Given the description of an element on the screen output the (x, y) to click on. 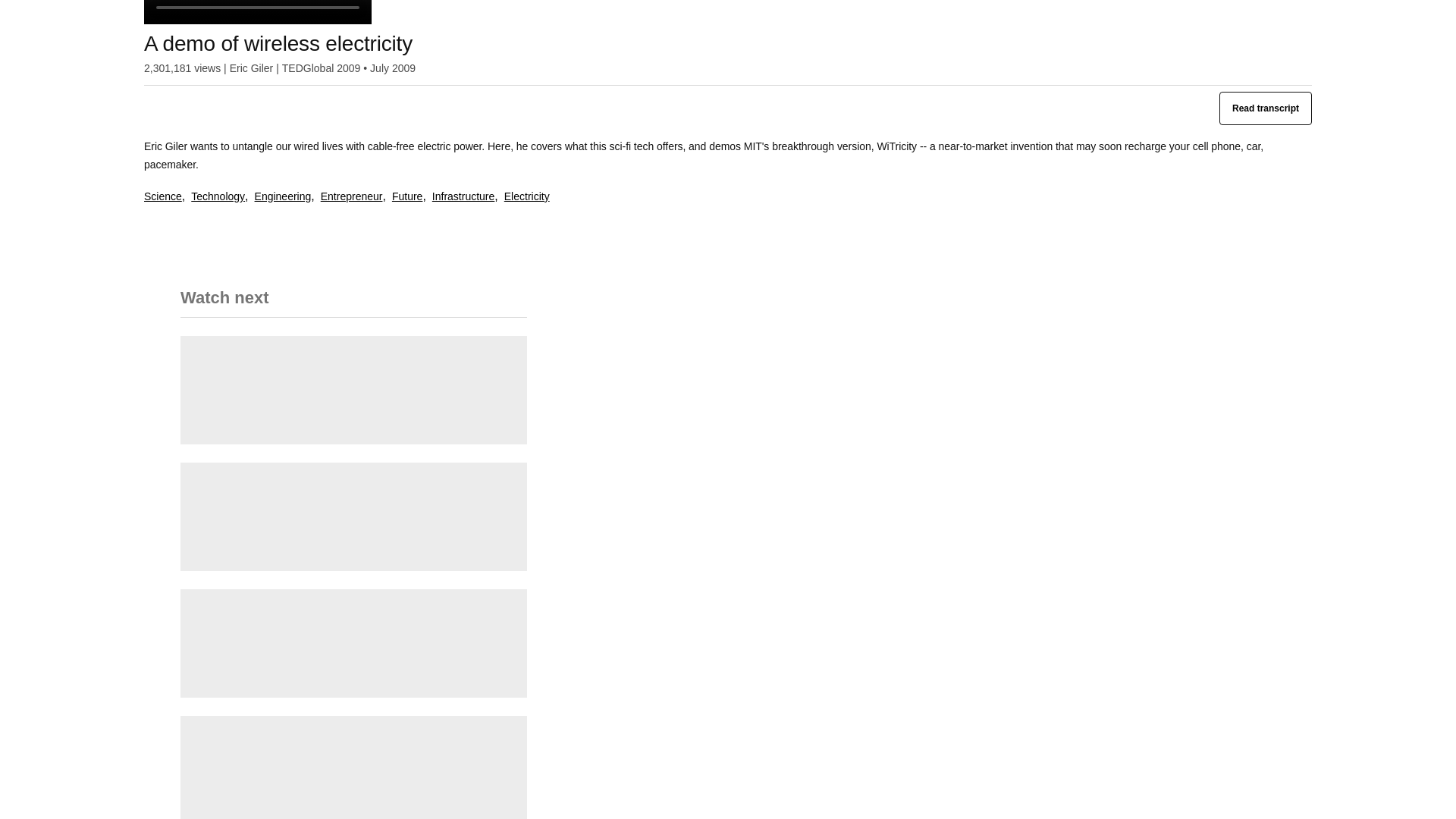
Technology (217, 196)
Infrastructure (463, 196)
Electricity (526, 196)
Engineering (282, 196)
Science (163, 196)
Entrepreneur (351, 196)
Future (406, 196)
Watch next (224, 302)
Read transcript (1265, 108)
Watch next (353, 308)
